Given the description of an element on the screen output the (x, y) to click on. 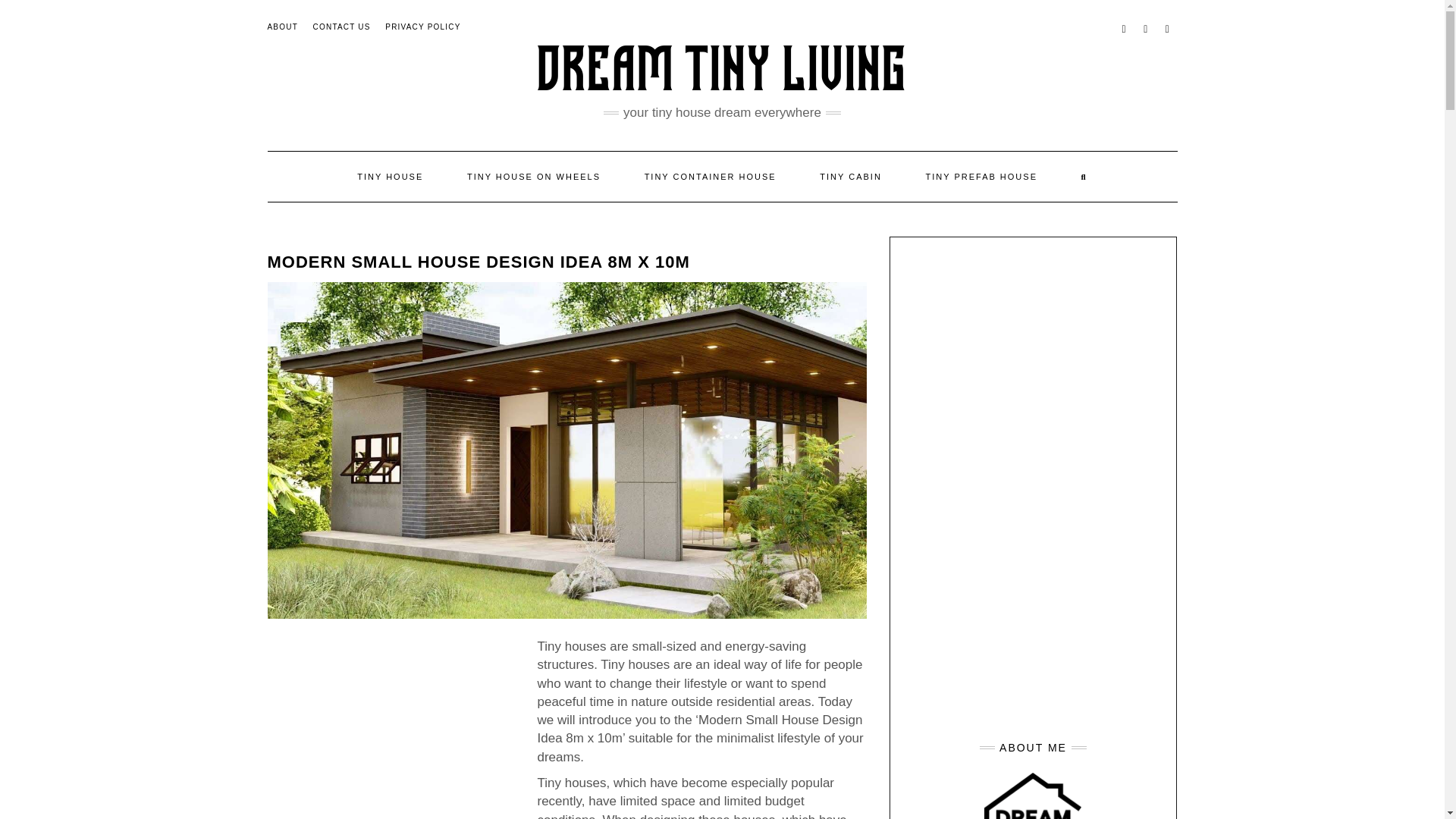
TINY PREFAB HOUSE (981, 176)
FACEBOOK (1124, 27)
TINY HOUSE ON WHEELS (533, 176)
ABOUT (281, 26)
Advertisement (393, 728)
TINY CONTAINER HOUSE (710, 176)
PINTEREST (1167, 27)
PRIVACY POLICY (422, 26)
TINY HOUSE (390, 176)
TINY CABIN (850, 176)
